Given the description of an element on the screen output the (x, y) to click on. 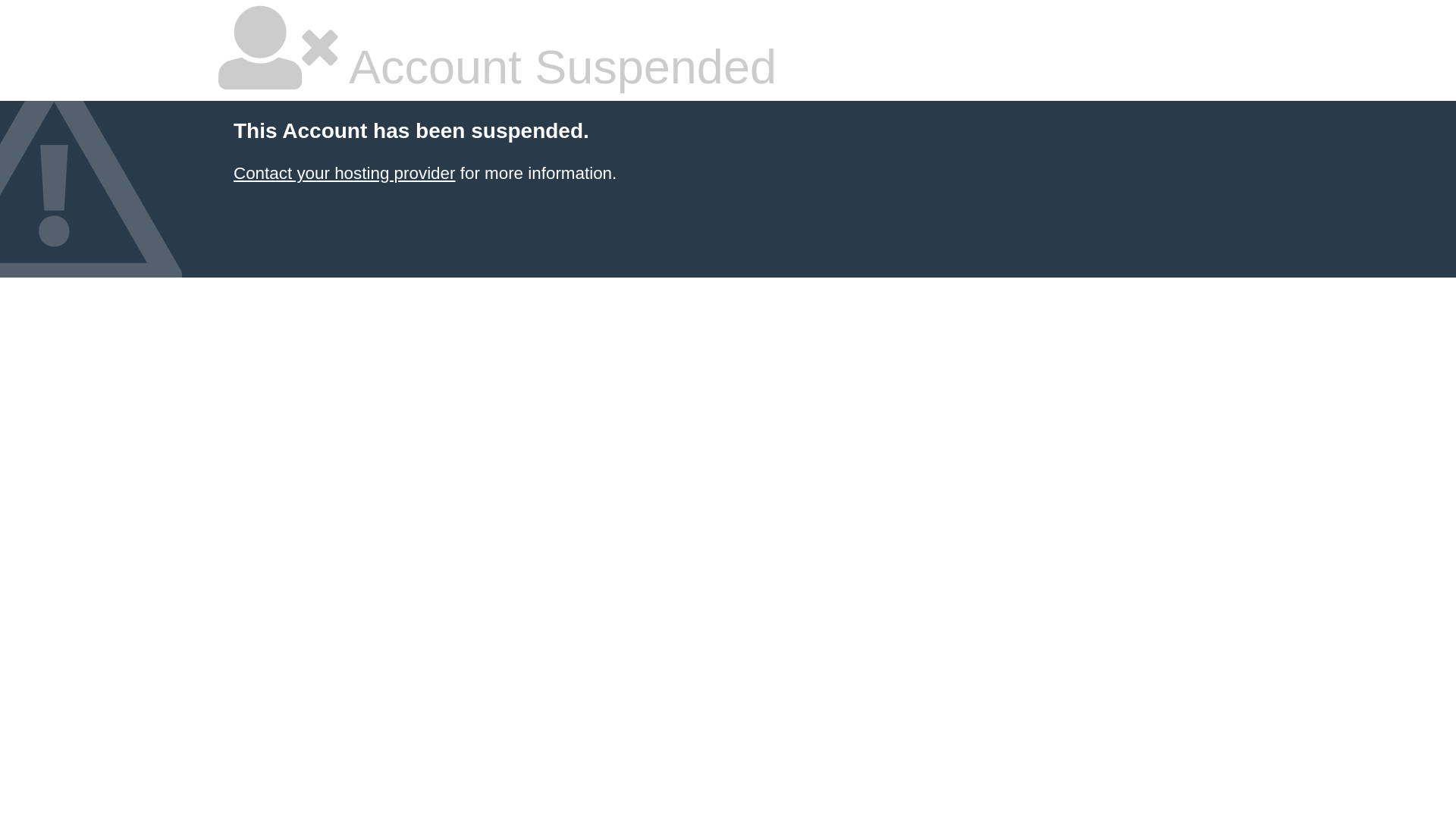
Contact your hosting provider Element type: text (344, 172)
